Given the description of an element on the screen output the (x, y) to click on. 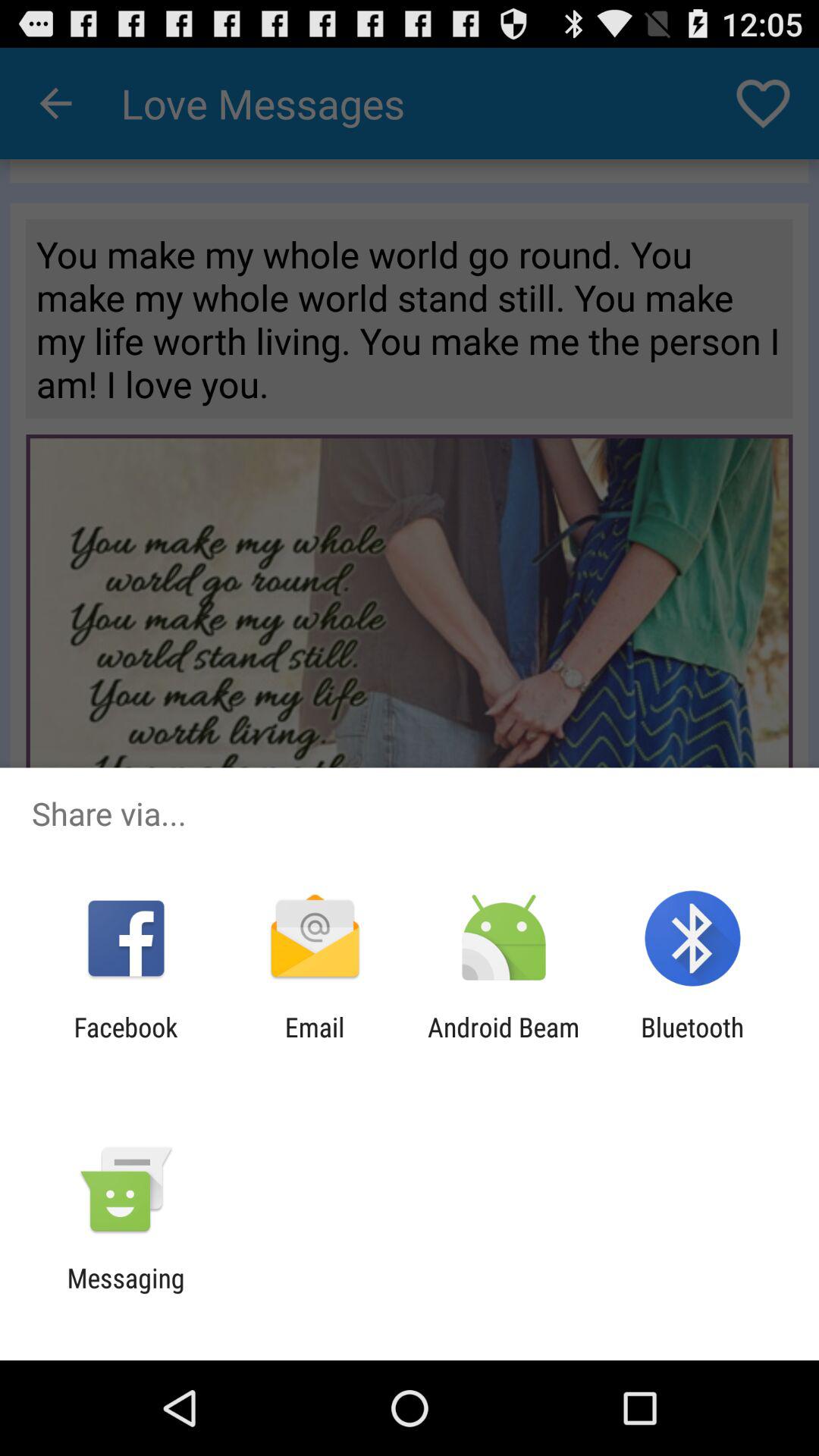
turn off facebook (125, 1042)
